Given the description of an element on the screen output the (x, y) to click on. 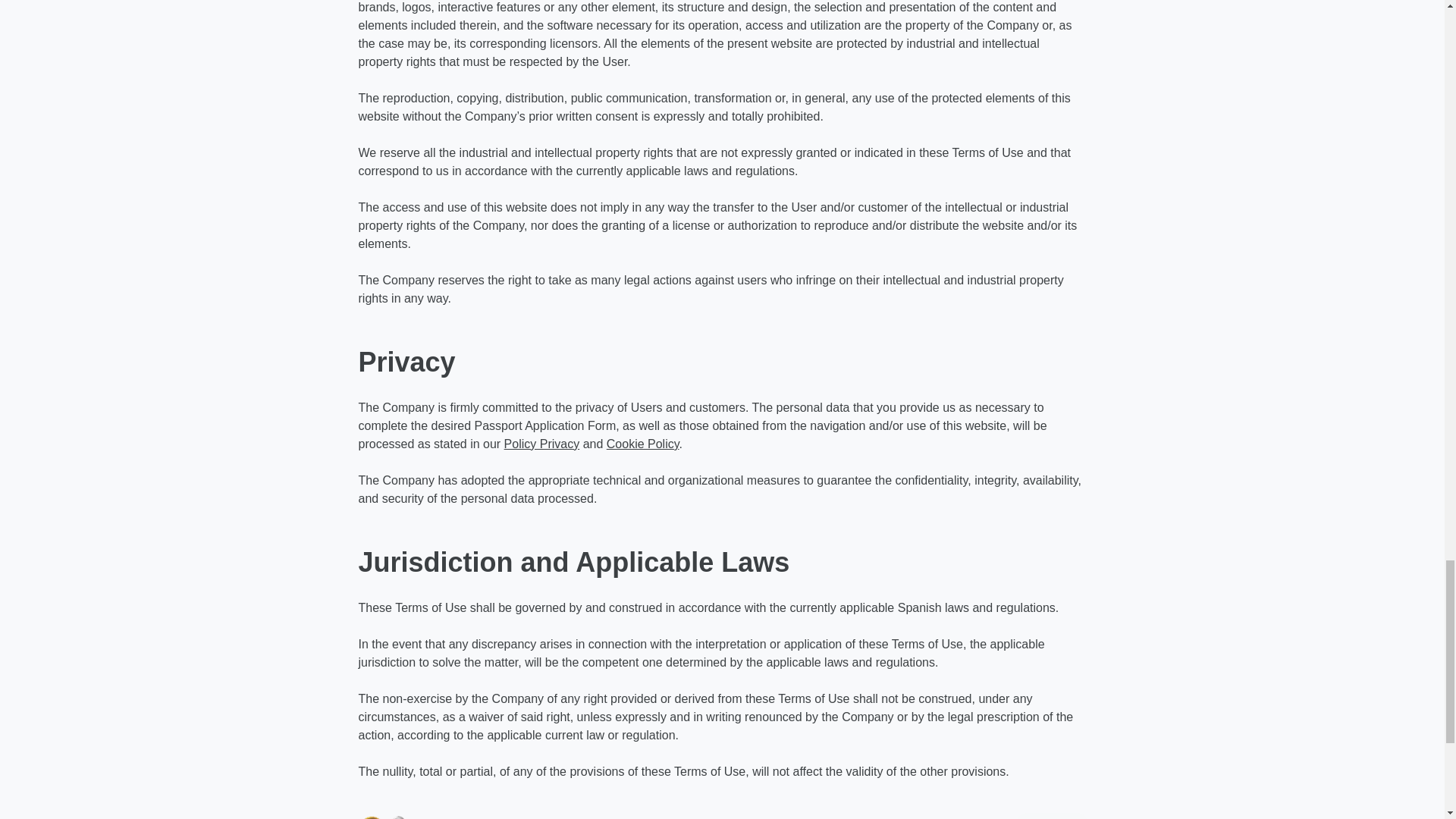
Policy Privacy (541, 443)
Cookie Policy (643, 443)
